Given the description of an element on the screen output the (x, y) to click on. 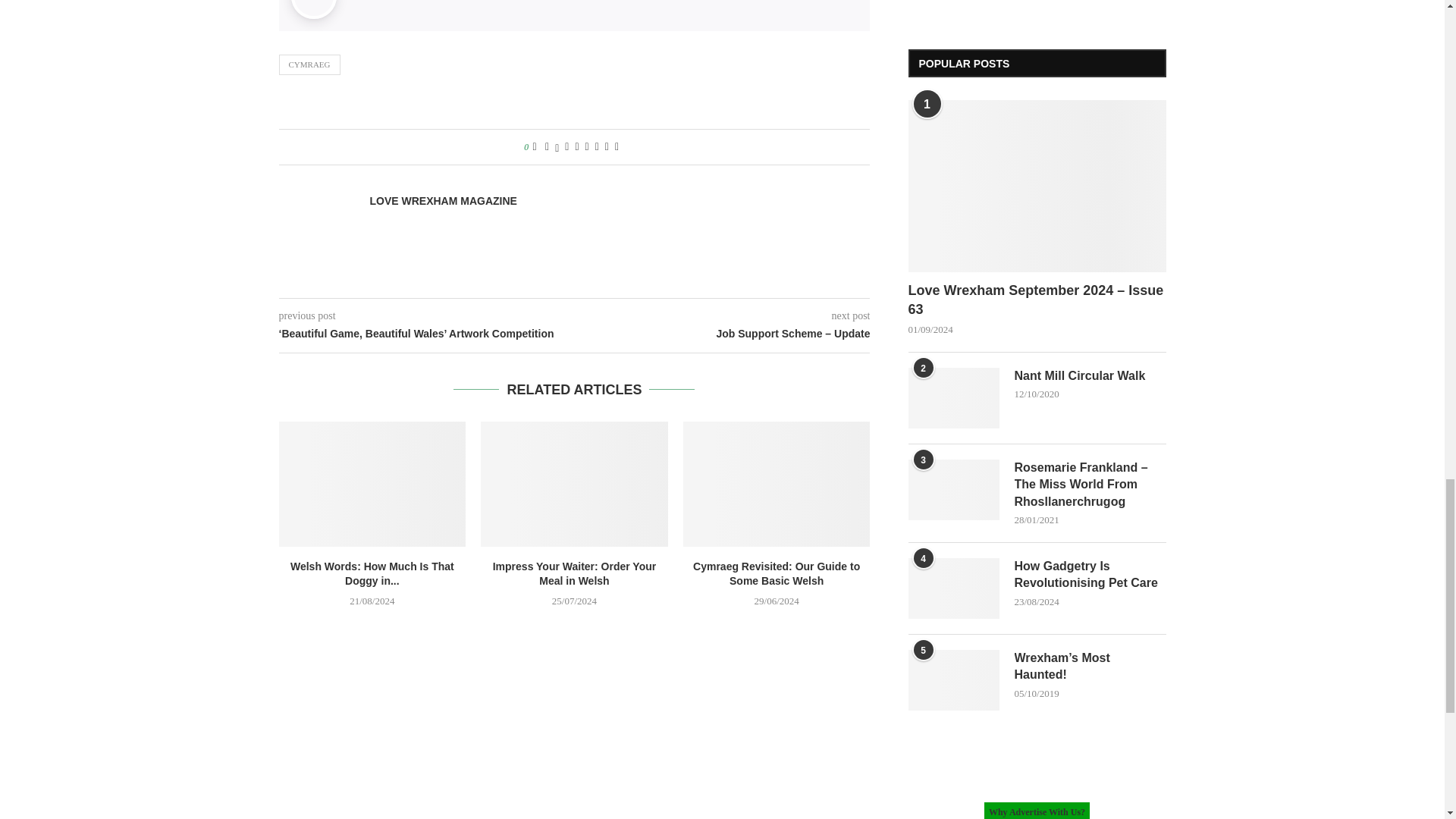
Impress Your Waiter: Order Your Meal in Welsh (574, 483)
Welsh Words: How Much Is That Doggy in the Window? (372, 483)
Author Love Wrexham Magazine (442, 201)
Cymraeg Revisited: Our Guide to Some Basic Welsh (776, 483)
